Given the description of an element on the screen output the (x, y) to click on. 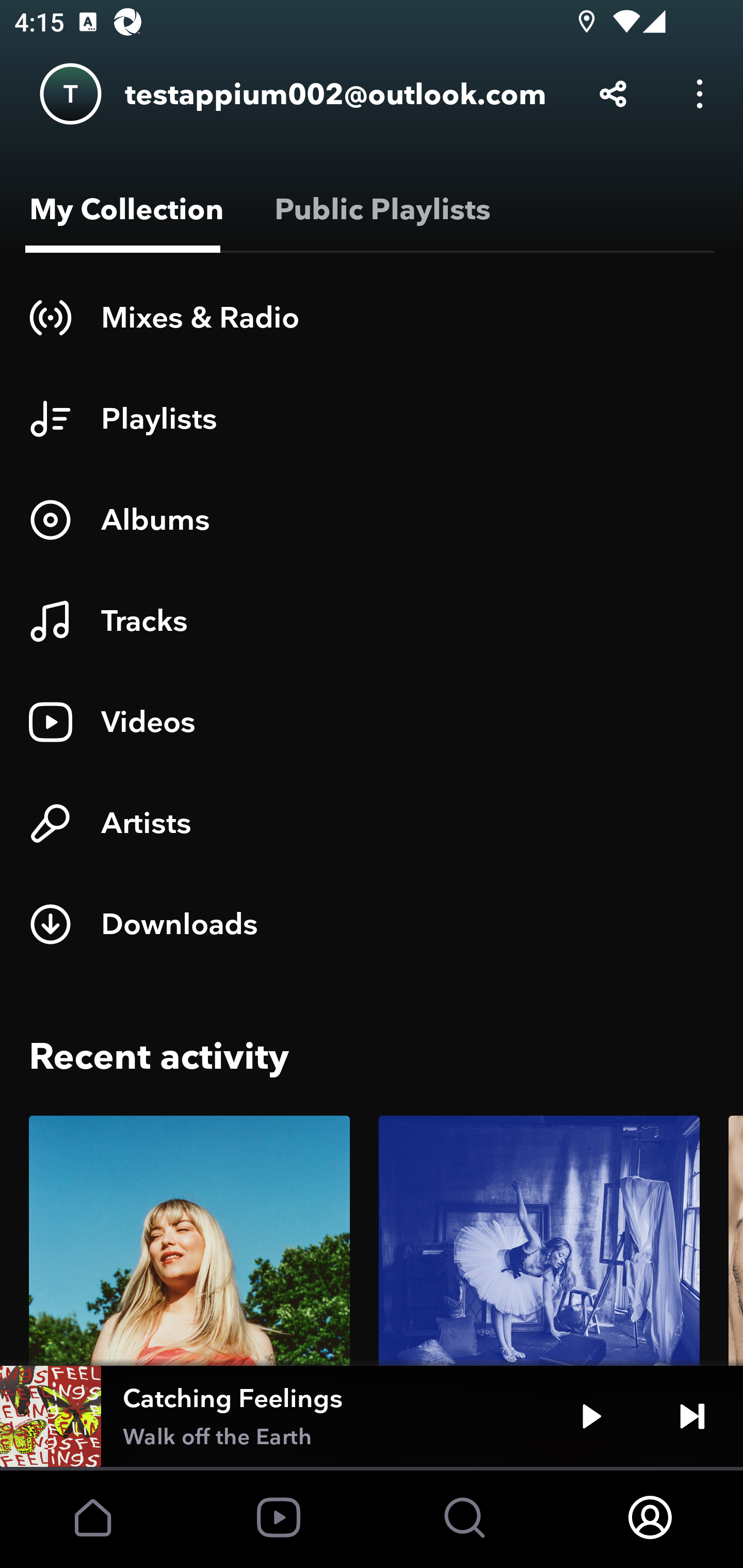
Share (612, 93)
Options (699, 93)
Public Playlists (378, 209)
Mixes & Radio (371, 317)
Playlists (371, 418)
Albums (371, 519)
Tracks (371, 620)
Videos (371, 722)
Artists (371, 823)
Downloads (371, 924)
Catching Feelings Walk off the Earth Play (371, 1416)
Play (590, 1416)
